Given the description of an element on the screen output the (x, y) to click on. 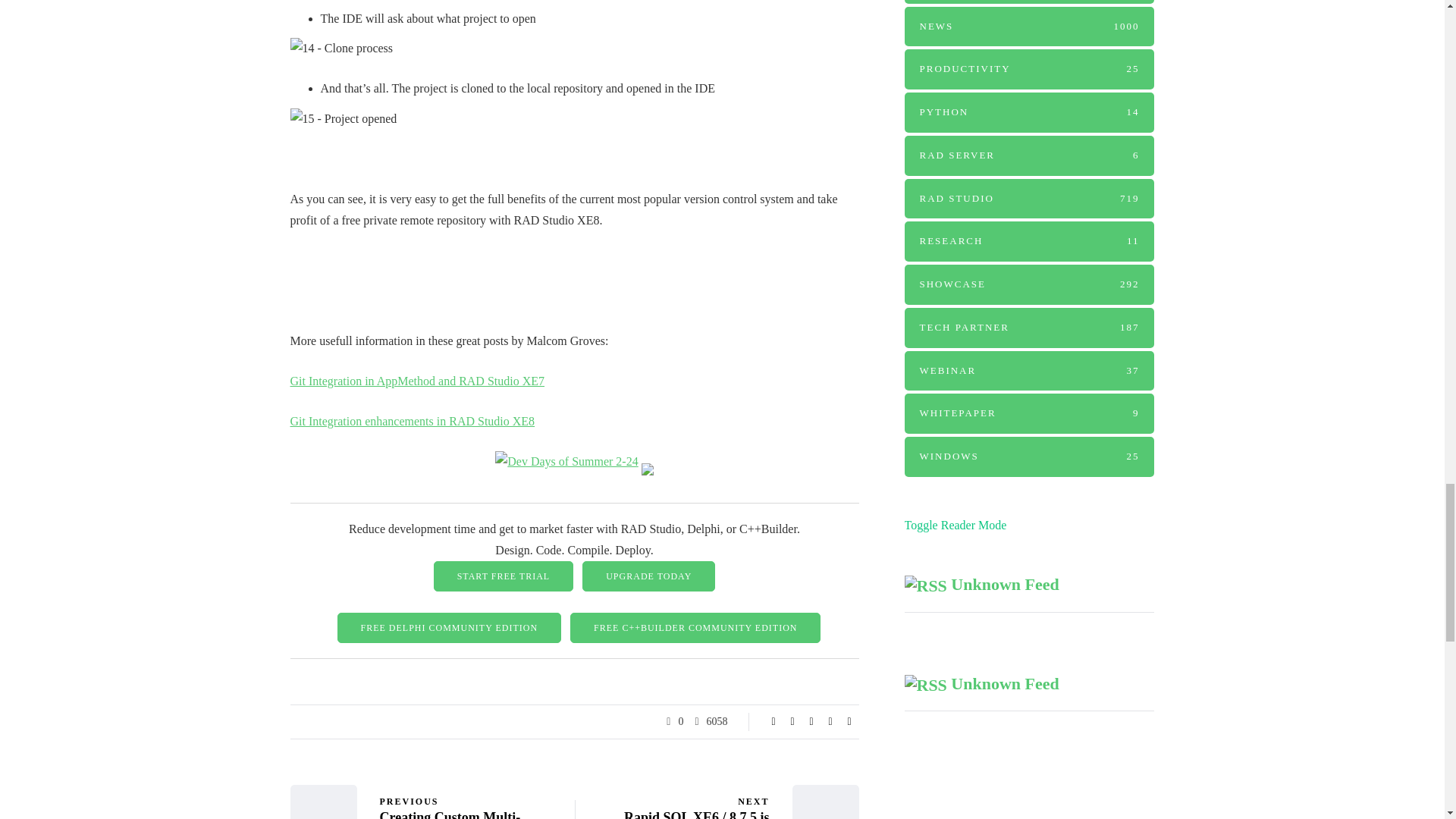
Tweet this (792, 721)
Share by Email (849, 721)
Pin this (830, 721)
Share with LinkedIn (811, 721)
Share with Facebook (773, 721)
